Given the description of an element on the screen output the (x, y) to click on. 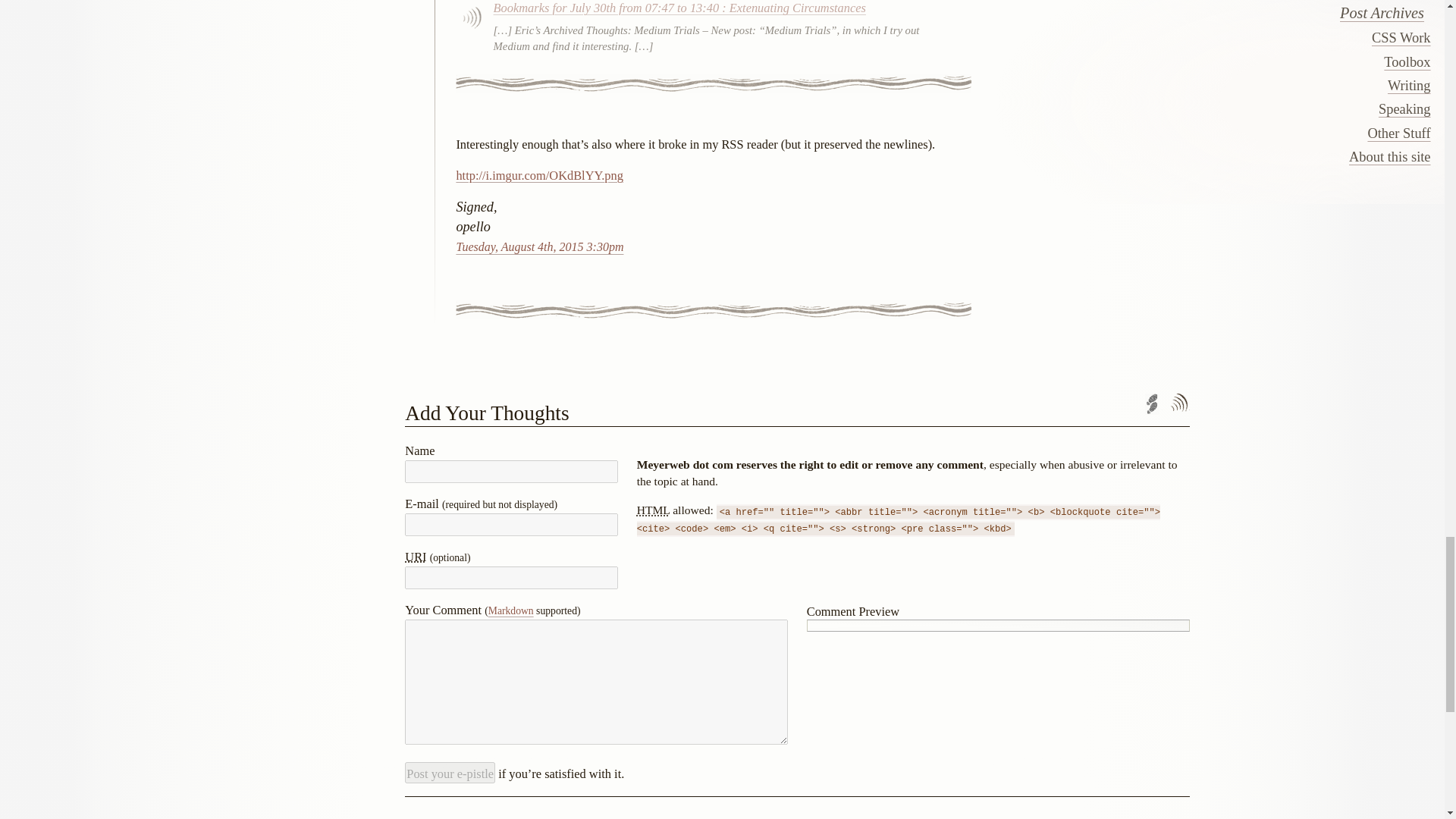
Really Simple Syndication (1257, 402)
Trackback URL (1151, 403)
Comments RSS feed (1179, 403)
Hypertext Markup Language (653, 509)
Uniform Resource Identifier (415, 556)
Post your e-pistle (449, 772)
Trackback URL (1151, 403)
Tuesday, August 4th, 2015 3:30pm (539, 246)
Comments RSS feed' (1179, 403)
Markdown (510, 610)
